Given the description of an element on the screen output the (x, y) to click on. 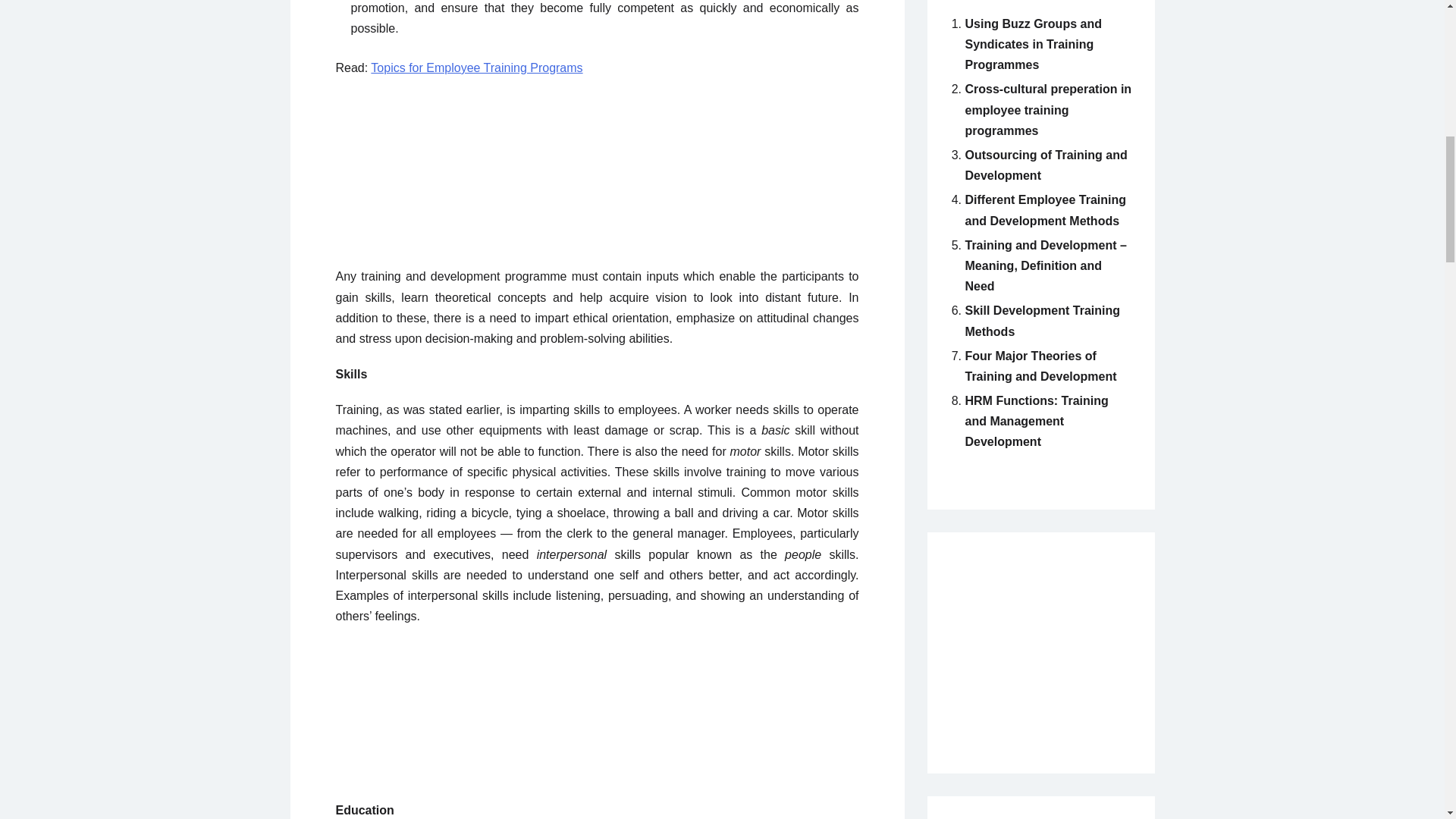
Cross-cultural preperation in employee training programmes (1047, 109)
Using Buzz Groups and Syndicates in Training Programmes (1031, 44)
Outsourcing of Training and Development (1044, 164)
Different Employee Training and Development Methods (1044, 209)
Topics for Employee Training Programs (476, 67)
Topics for Employee Training Programs (476, 67)
Skill Development Training Methods (1041, 320)
